Given the description of an element on the screen output the (x, y) to click on. 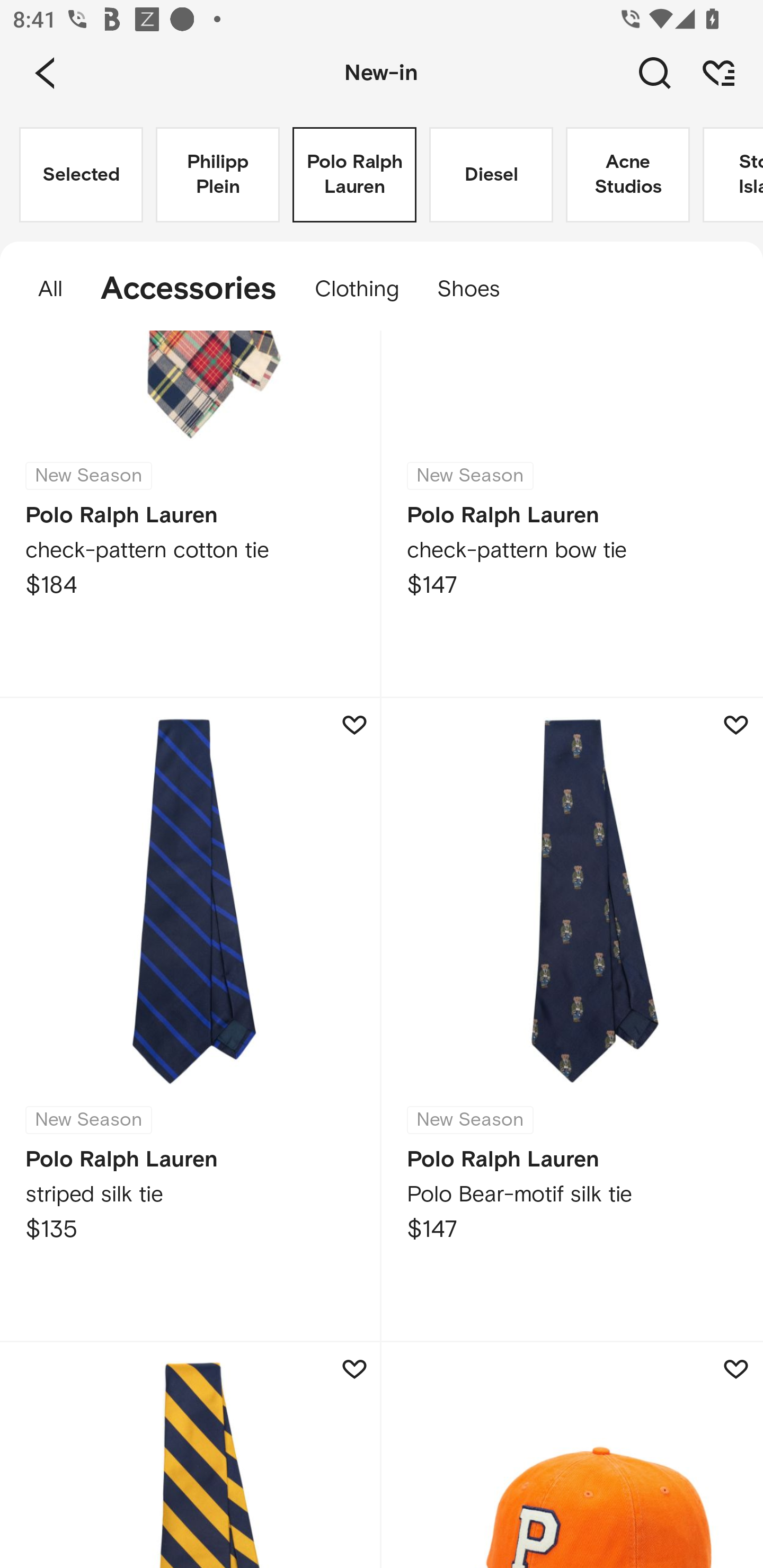
Selected (81, 174)
Philipp Plein (217, 174)
Polo Ralph Lauren (354, 174)
Diesel (490, 174)
Acne Studios (627, 174)
